Given the description of an element on the screen output the (x, y) to click on. 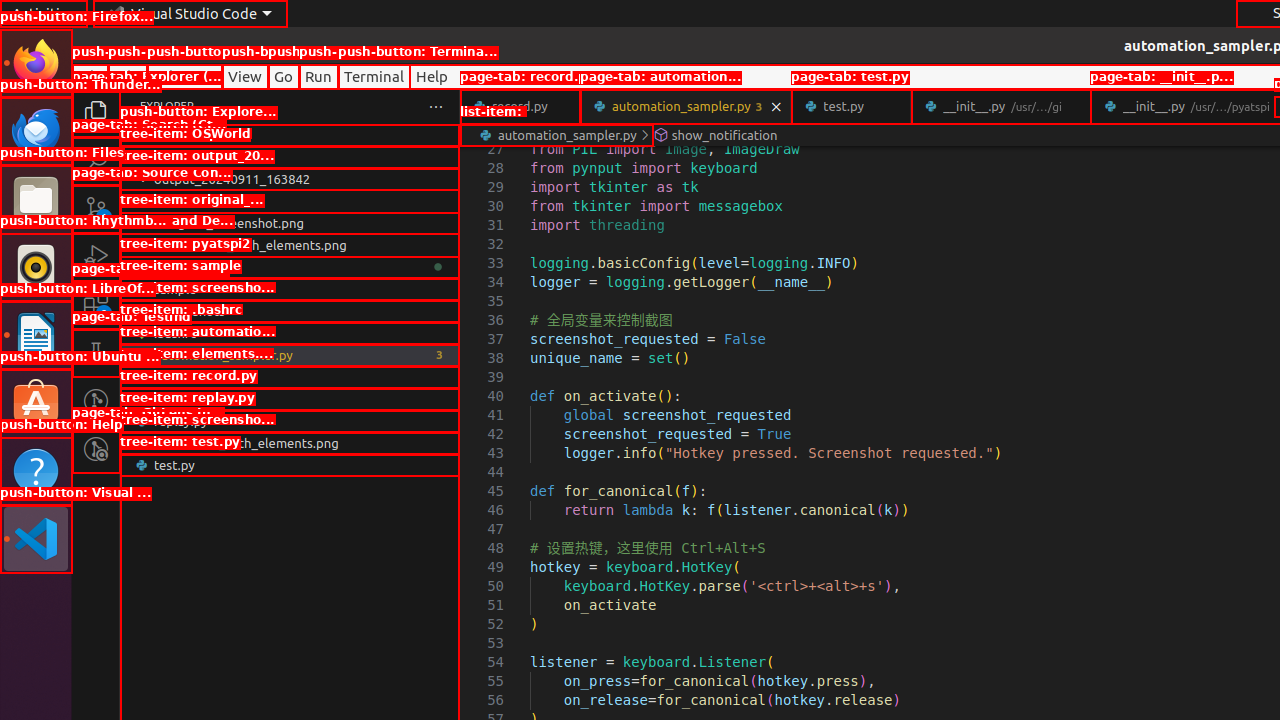
Selection Element type: push-button (184, 76)
Run Element type: push-button (318, 76)
automation_sampler.py Element type: page-tab (686, 106)
